Given the description of an element on the screen output the (x, y) to click on. 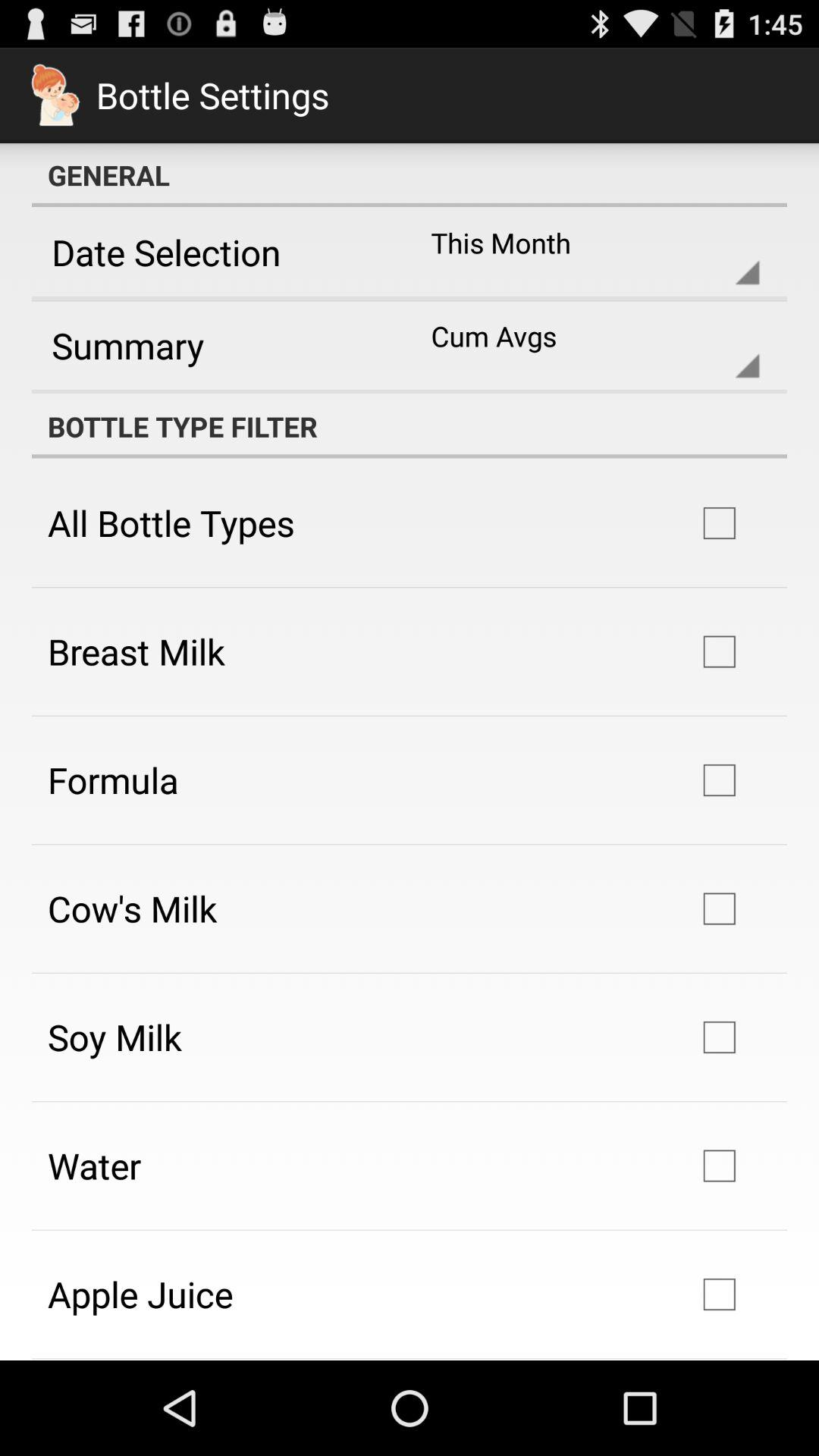
tap the item above the water item (114, 1036)
